Given the description of an element on the screen output the (x, y) to click on. 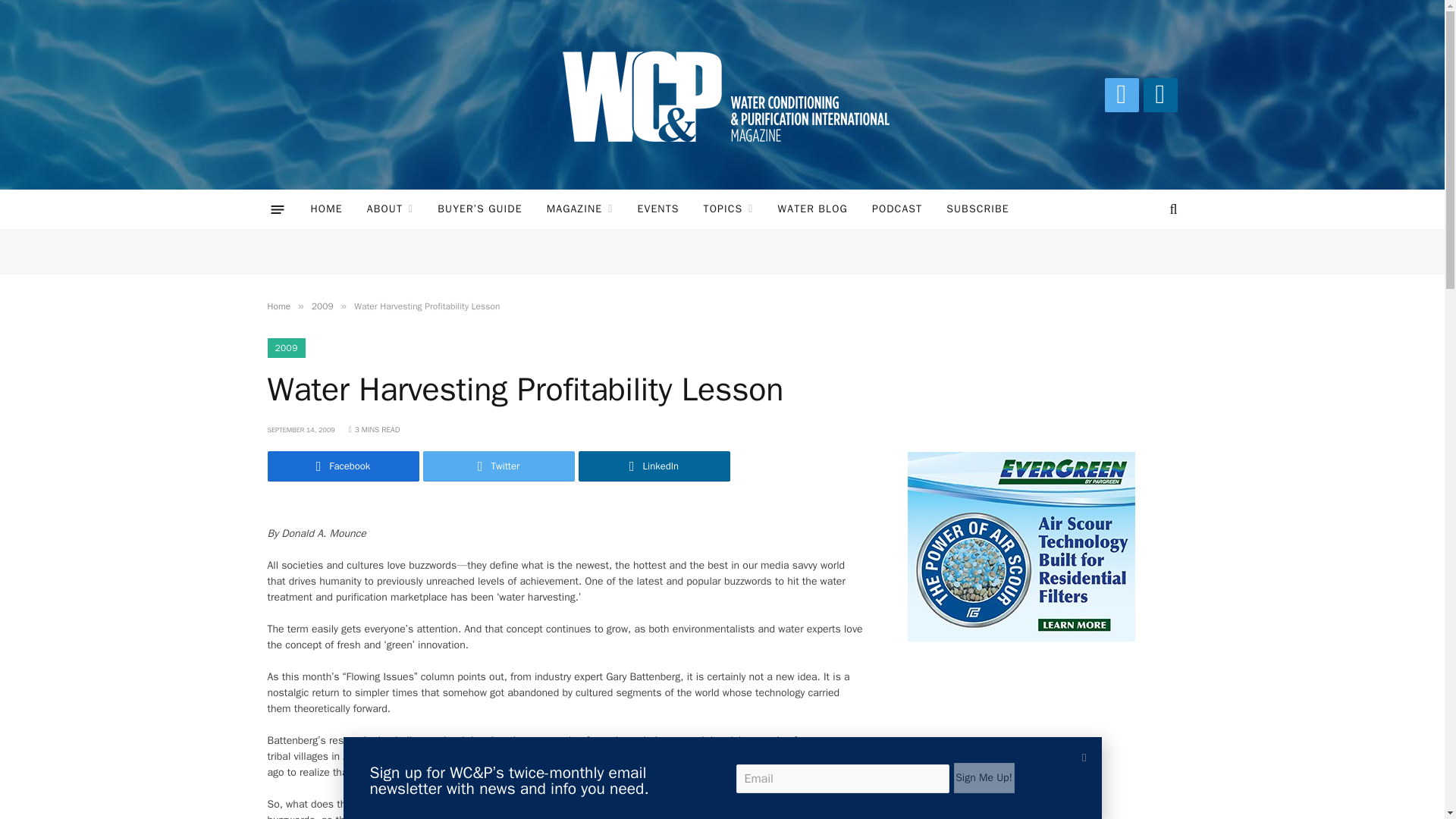
Share on Twitter (342, 466)
Twitter (1120, 93)
Share on Twitter (499, 466)
ABOUT (390, 209)
Share on LinkedIn (653, 466)
WCP Online (722, 94)
LinkedIn (1159, 93)
HOME (326, 209)
